Given the description of an element on the screen output the (x, y) to click on. 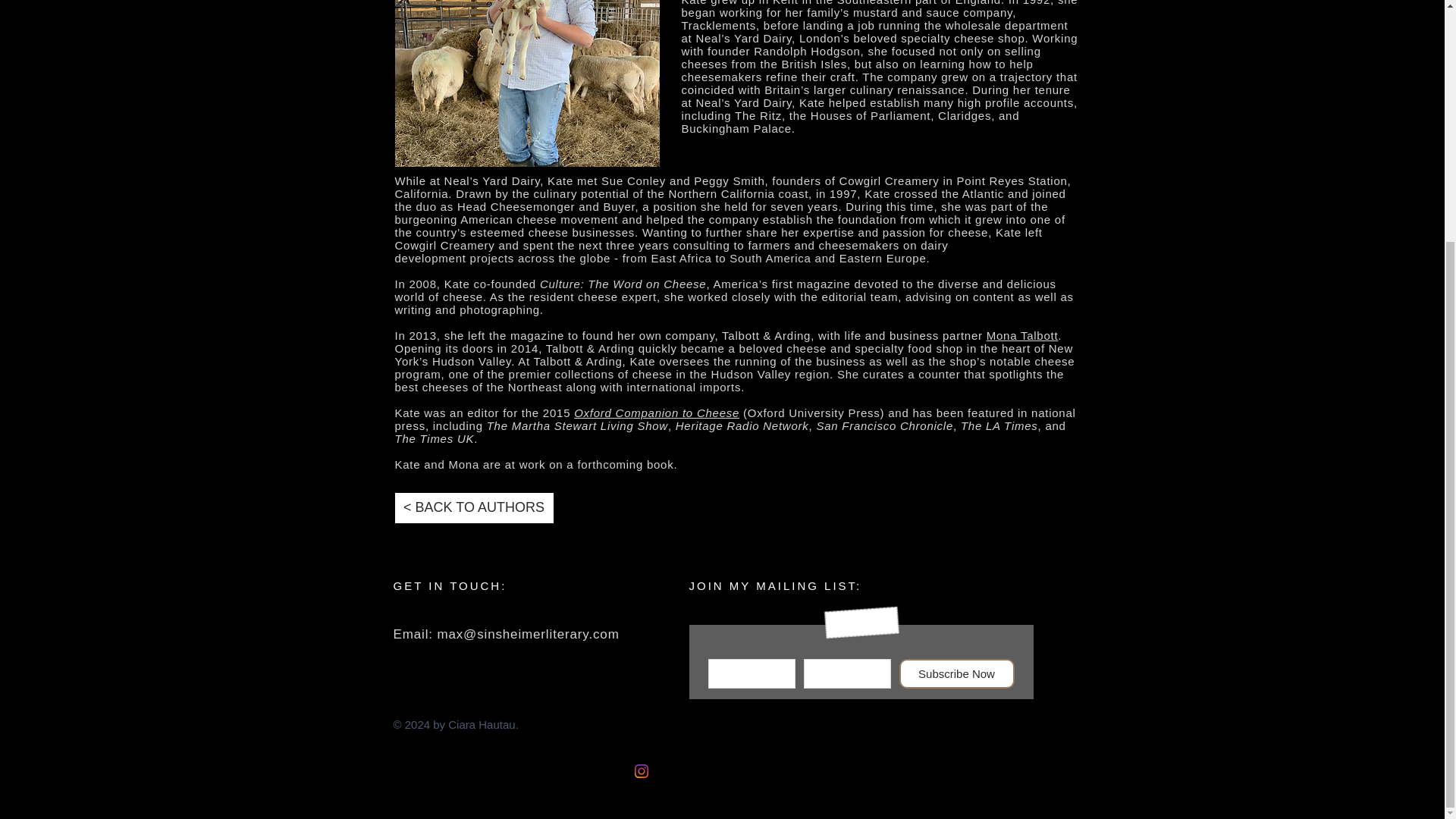
Subscribe Now (956, 673)
Mona Talbott (1022, 335)
Oxford Companion to Cheese (656, 412)
